Given the description of an element on the screen output the (x, y) to click on. 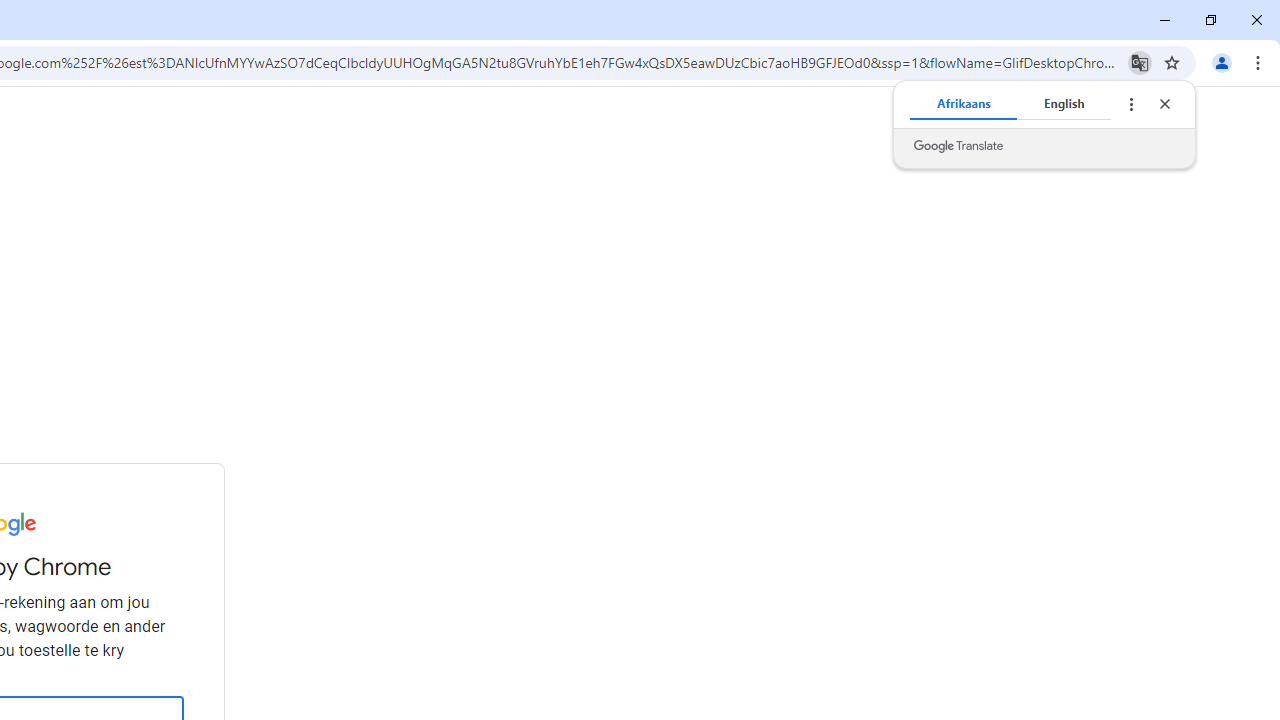
Translate this page (1139, 62)
Translate options (1130, 103)
Afrikaans (963, 103)
